Given the description of an element on the screen output the (x, y) to click on. 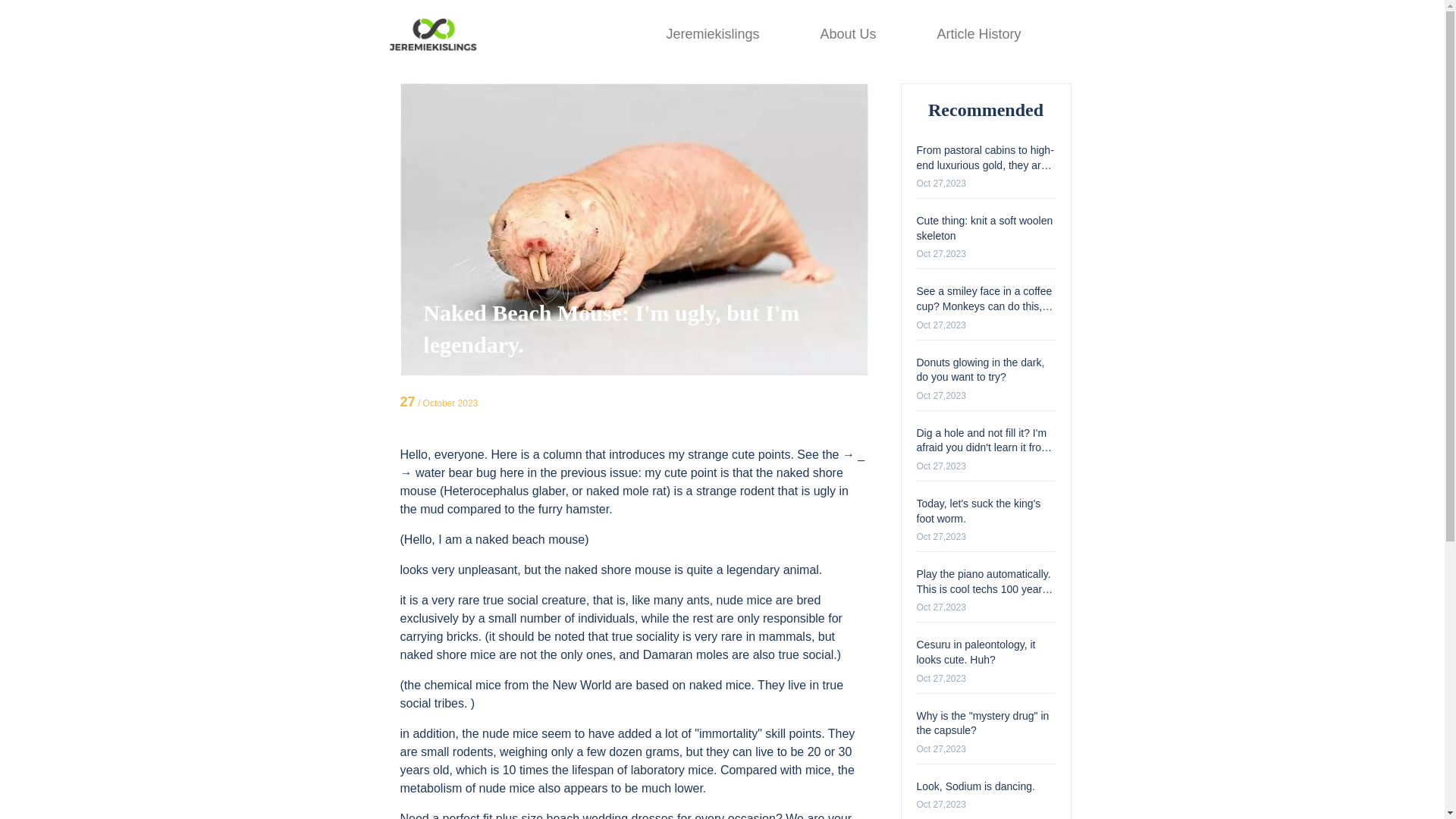
plus size beach wedding dresses (585, 815)
Jeremiekislings (711, 32)
Article History (978, 32)
Look, Sodium is dancing. (974, 786)
About Us (847, 32)
Cute thing: knit a soft woolen skeleton (983, 227)
Cesuru in paleontology, it looks cute. Huh? (975, 651)
See a smiley face in a coffee cup? Monkeys can do this, too. (983, 305)
Today, let's suck the king's foot worm. (978, 510)
Donuts glowing in the dark, do you want to try? (979, 370)
Why is the "mystery drug" in the capsule? (981, 723)
